Given the description of an element on the screen output the (x, y) to click on. 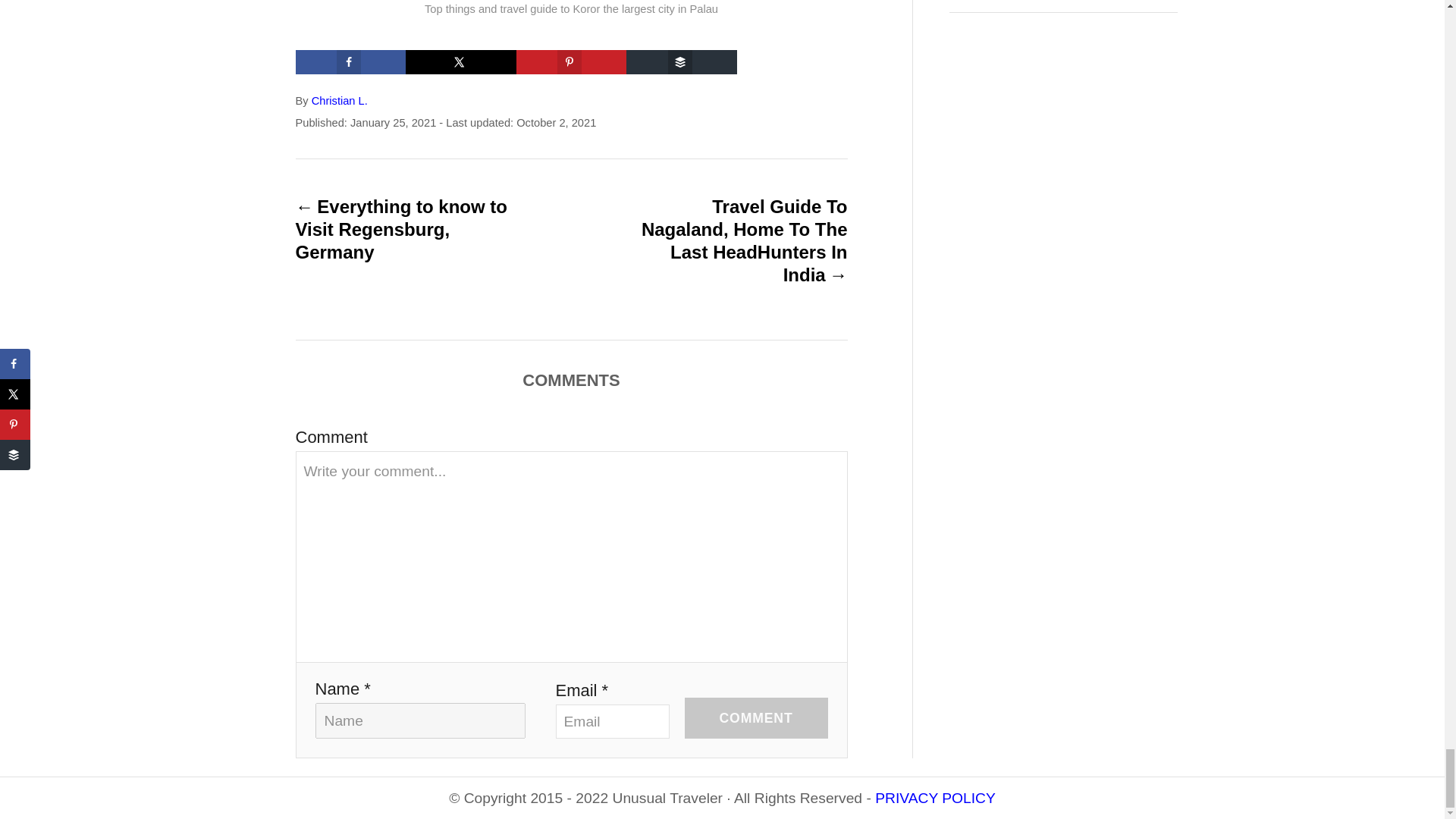
Share on Buffer (681, 61)
Share on X (461, 61)
Save to Pinterest (571, 61)
Share on Facebook (350, 61)
